Given the description of an element on the screen output the (x, y) to click on. 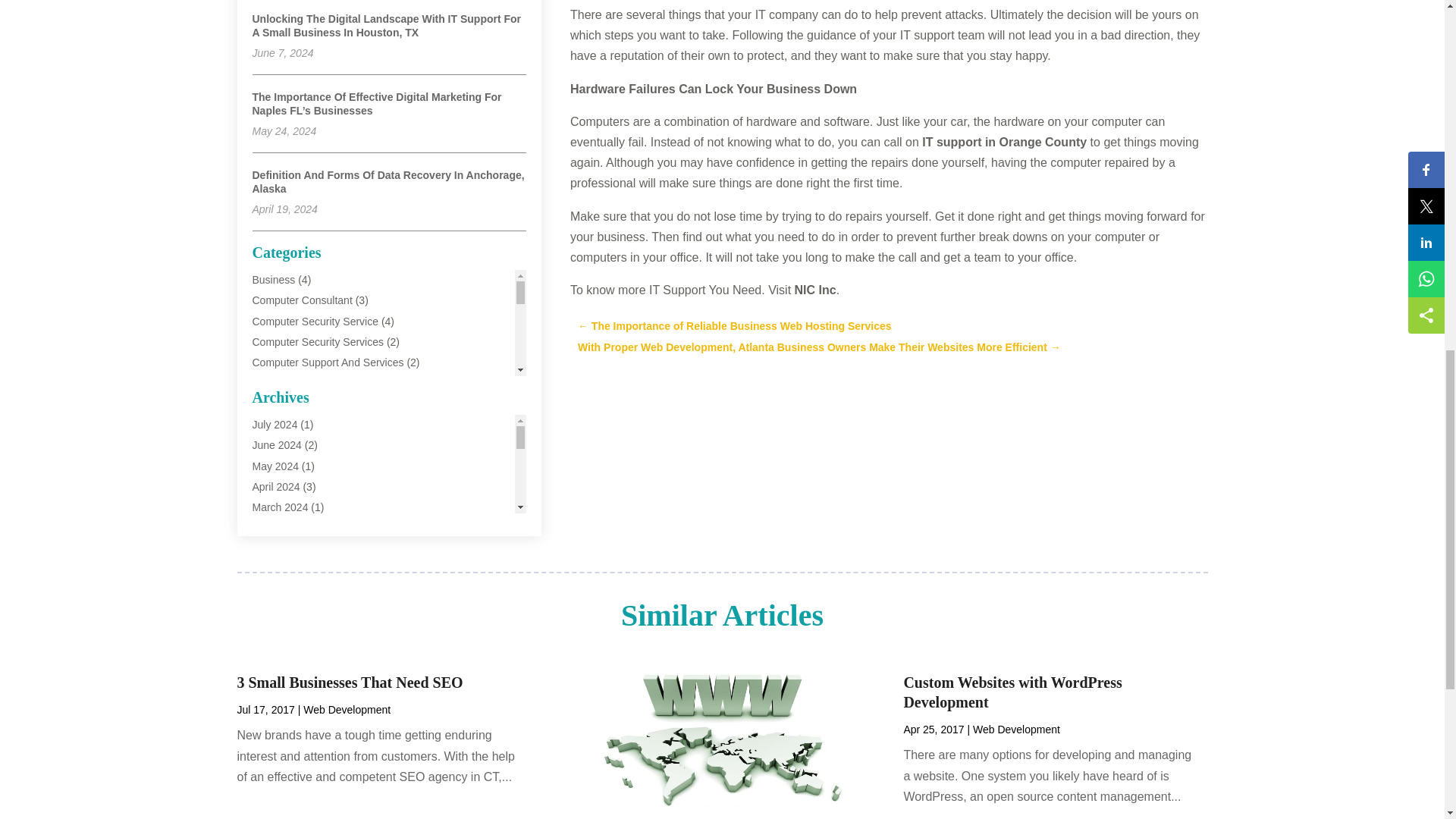
Definition And Forms Of Data Recovery In Anchorage, Alaska (387, 181)
Web Design (279, 630)
Computer Security Services (317, 341)
Software Company (296, 568)
Online Marketing (291, 548)
Internet Marketing (294, 465)
Internet Marketing Service (313, 485)
Software Development (305, 589)
Web Development Software (317, 671)
Computer Support And Services (327, 362)
Information Technology And Services (338, 444)
Data Communications (303, 403)
Supply Chain Management (315, 609)
Business (273, 279)
